Given the description of an element on the screen output the (x, y) to click on. 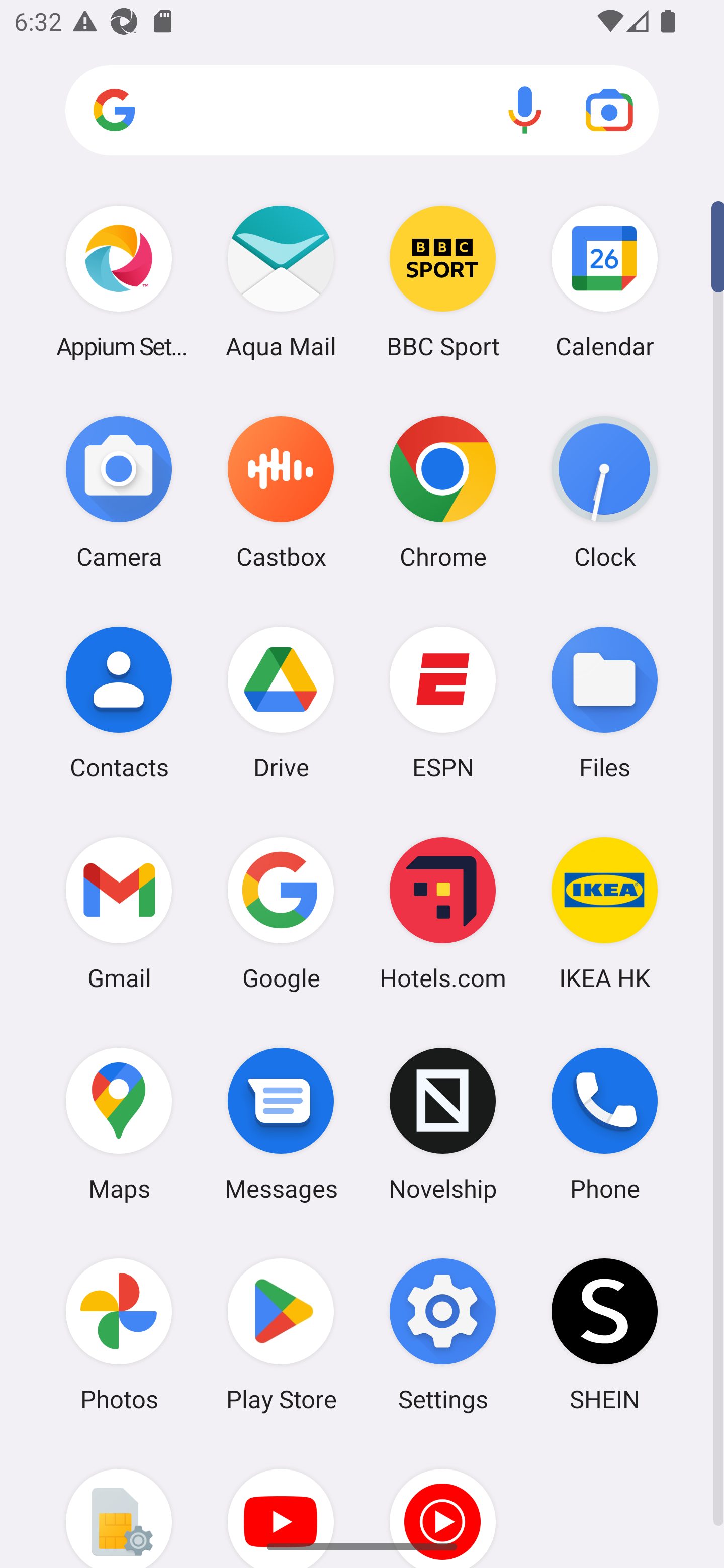
Search apps, web and more (361, 110)
Voice search (524, 109)
Google Lens (608, 109)
Appium Settings (118, 281)
Aqua Mail (280, 281)
BBC Sport (443, 281)
Calendar (604, 281)
Camera (118, 492)
Castbox (280, 492)
Chrome (443, 492)
Clock (604, 492)
Contacts (118, 702)
Drive (280, 702)
ESPN (443, 702)
Files (604, 702)
Gmail (118, 913)
Google (280, 913)
Hotels.com (443, 913)
IKEA HK (604, 913)
Maps (118, 1124)
Messages (280, 1124)
Novelship (443, 1124)
Phone (604, 1124)
Photos (118, 1334)
Play Store (280, 1334)
Settings (443, 1334)
SHEIN (604, 1334)
TMoble (118, 1503)
YouTube (280, 1503)
YT Music (443, 1503)
